Given the description of an element on the screen output the (x, y) to click on. 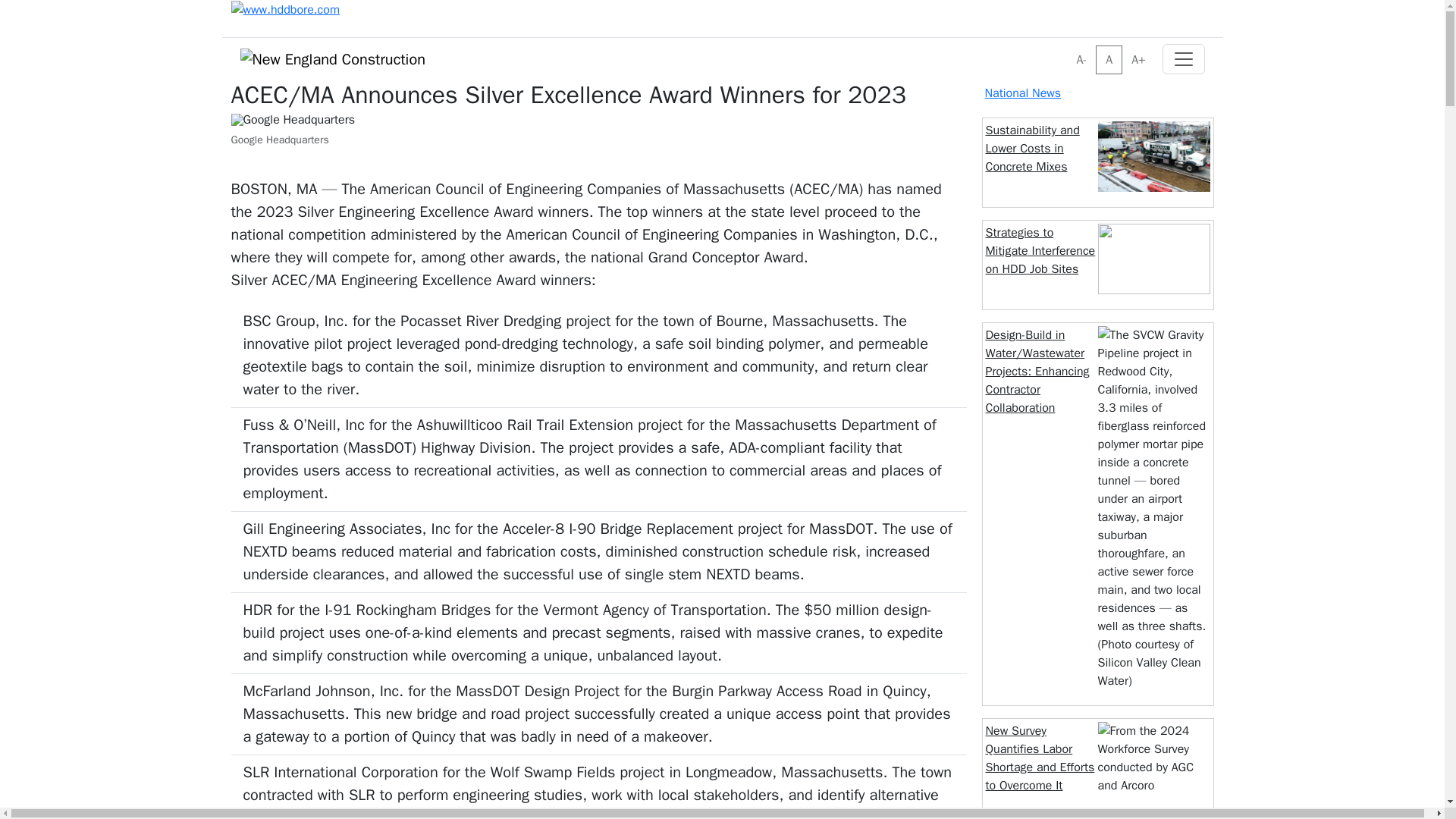
on (1070, 50)
Sustainability and Lower Costs in Concrete Mixes (1032, 148)
Strategies to Mitigate Interference on HDD Job Sites (1040, 250)
National News (1022, 92)
on (1070, 50)
on (1070, 50)
